Given the description of an element on the screen output the (x, y) to click on. 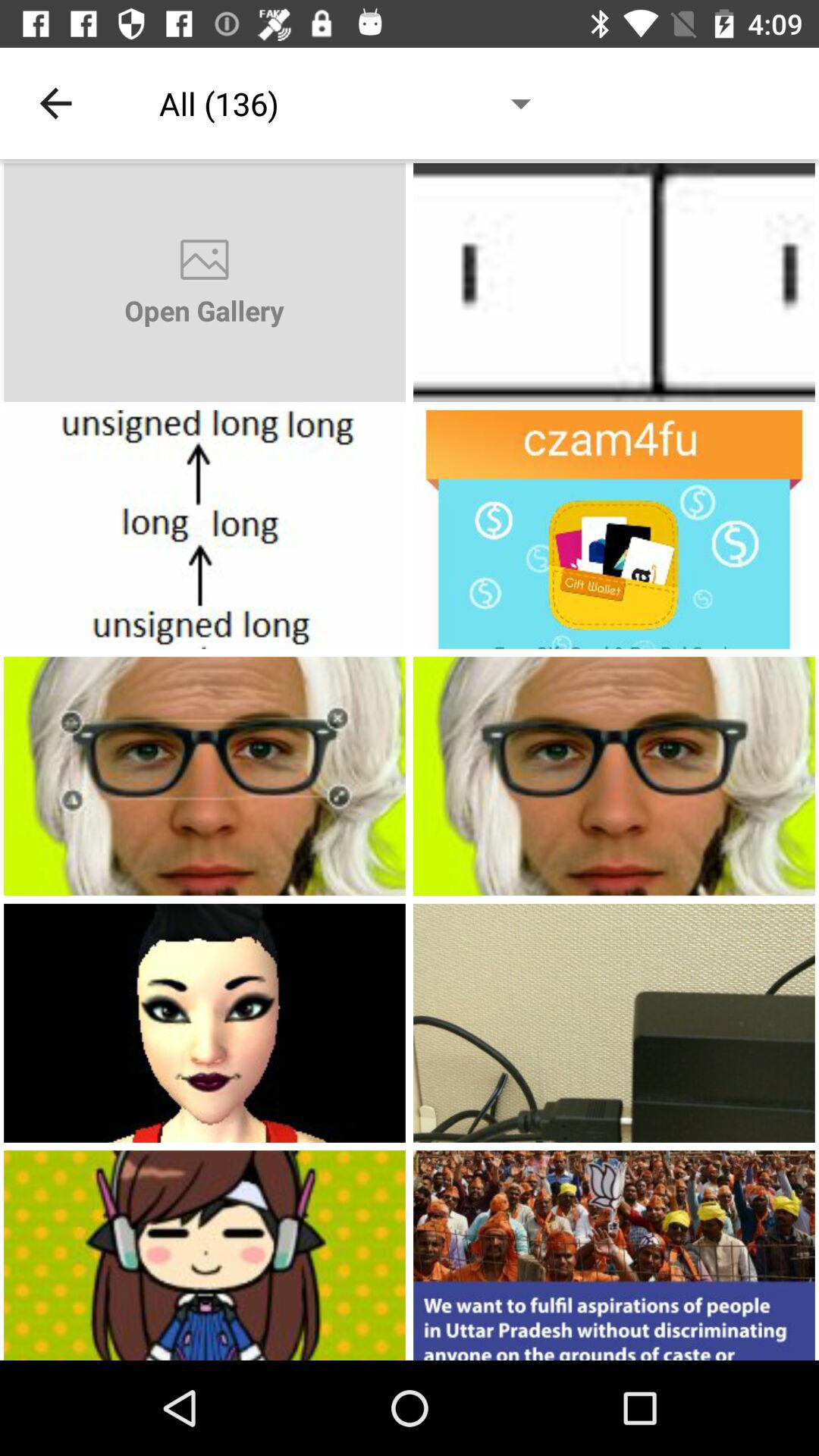
open picture (614, 775)
